Given the description of an element on the screen output the (x, y) to click on. 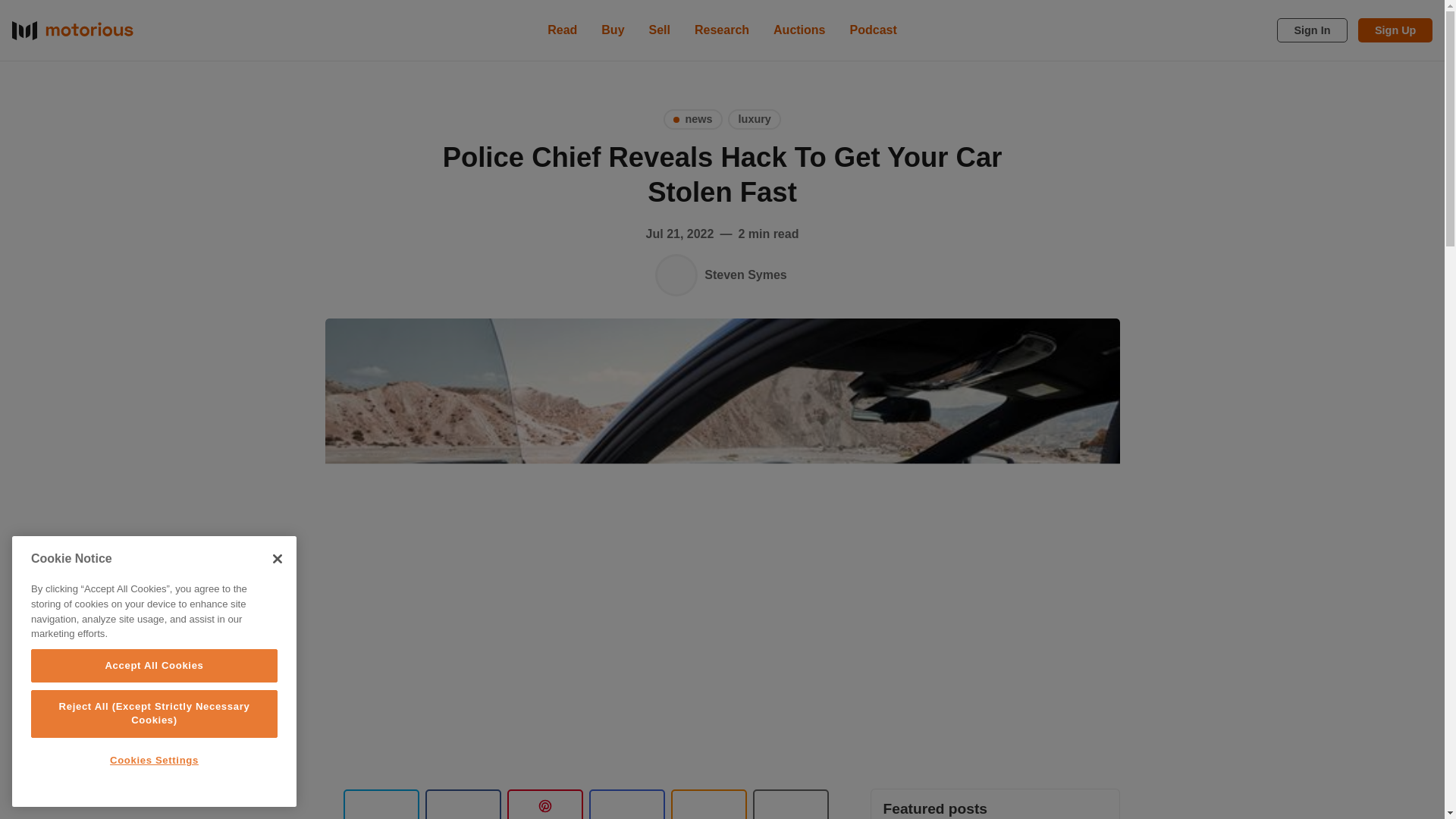
Sign Up (1395, 30)
Steven Symes (676, 275)
luxury (754, 118)
Bookmark (790, 804)
Podcast (873, 29)
Research (721, 29)
Share by email (625, 804)
luxury (754, 118)
Share on Facebook (462, 804)
Copy to clipboard (707, 804)
